Given the description of an element on the screen output the (x, y) to click on. 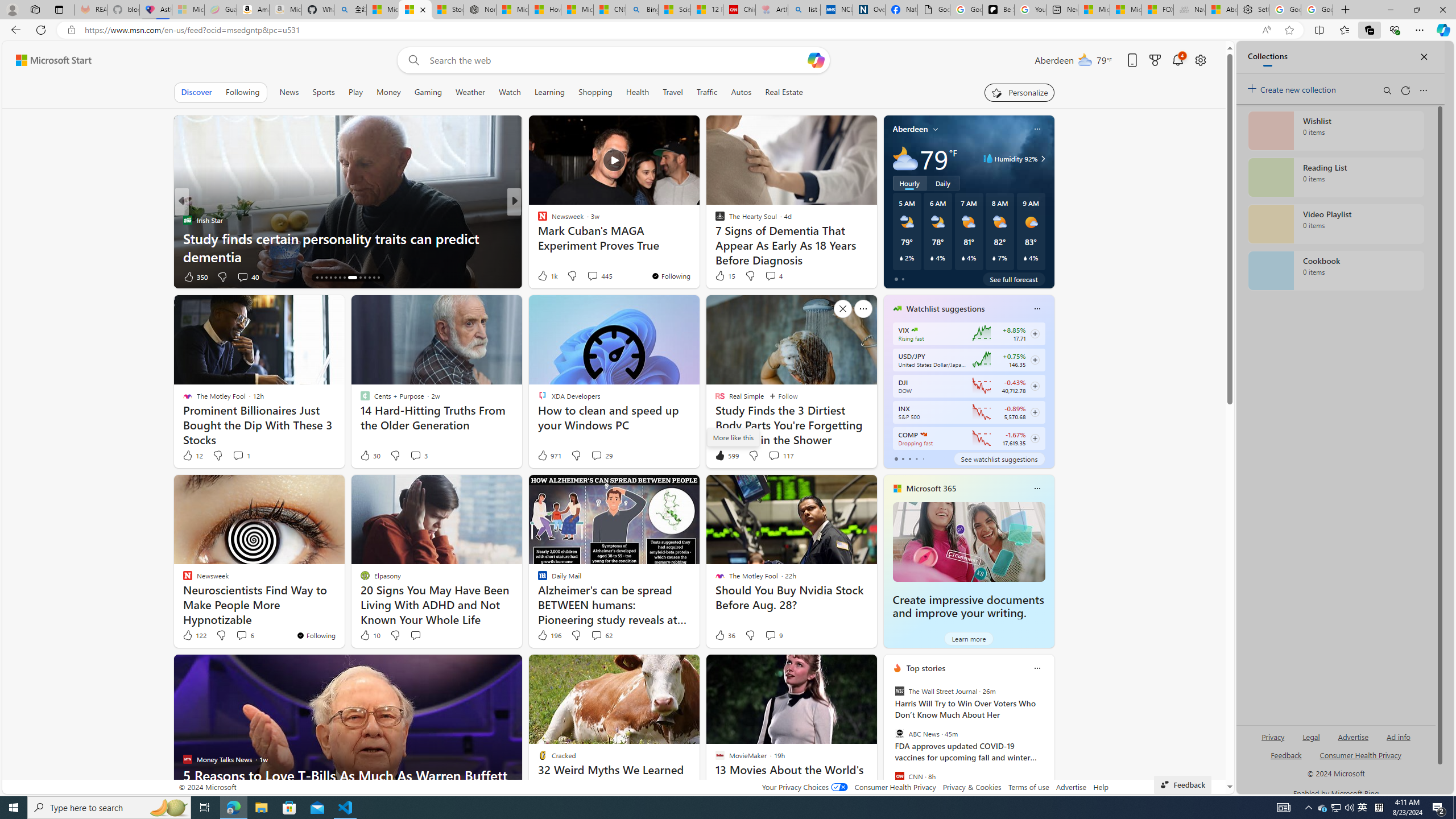
15 Like (724, 275)
AutomationID: tab-24 (368, 277)
AutomationID: tab-22 (360, 277)
View comments 6 Comment (241, 635)
You're following FOX News (839, 279)
86 Like (543, 276)
